Given the description of an element on the screen output the (x, y) to click on. 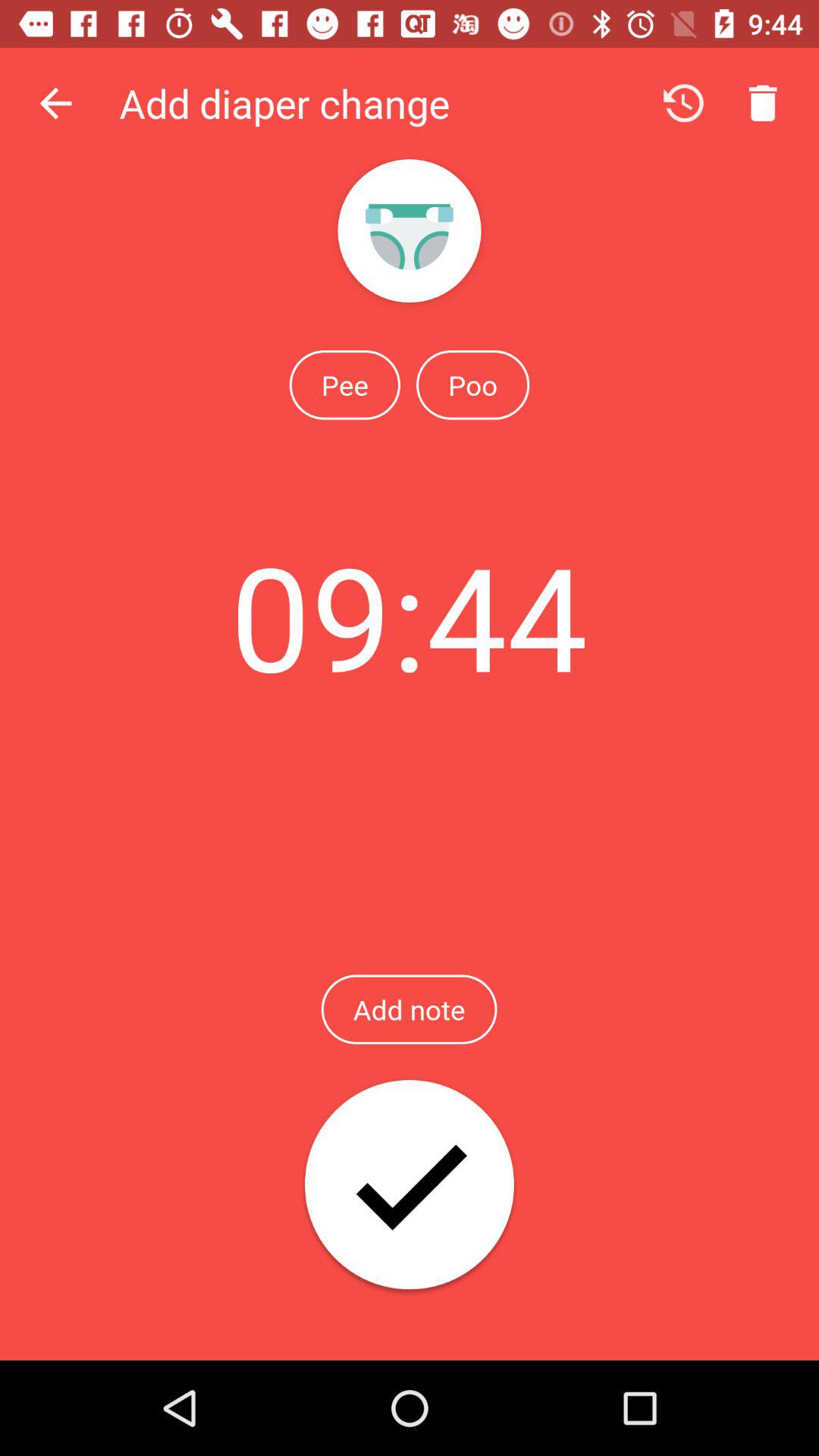
press item below pee (409, 615)
